Given the description of an element on the screen output the (x, y) to click on. 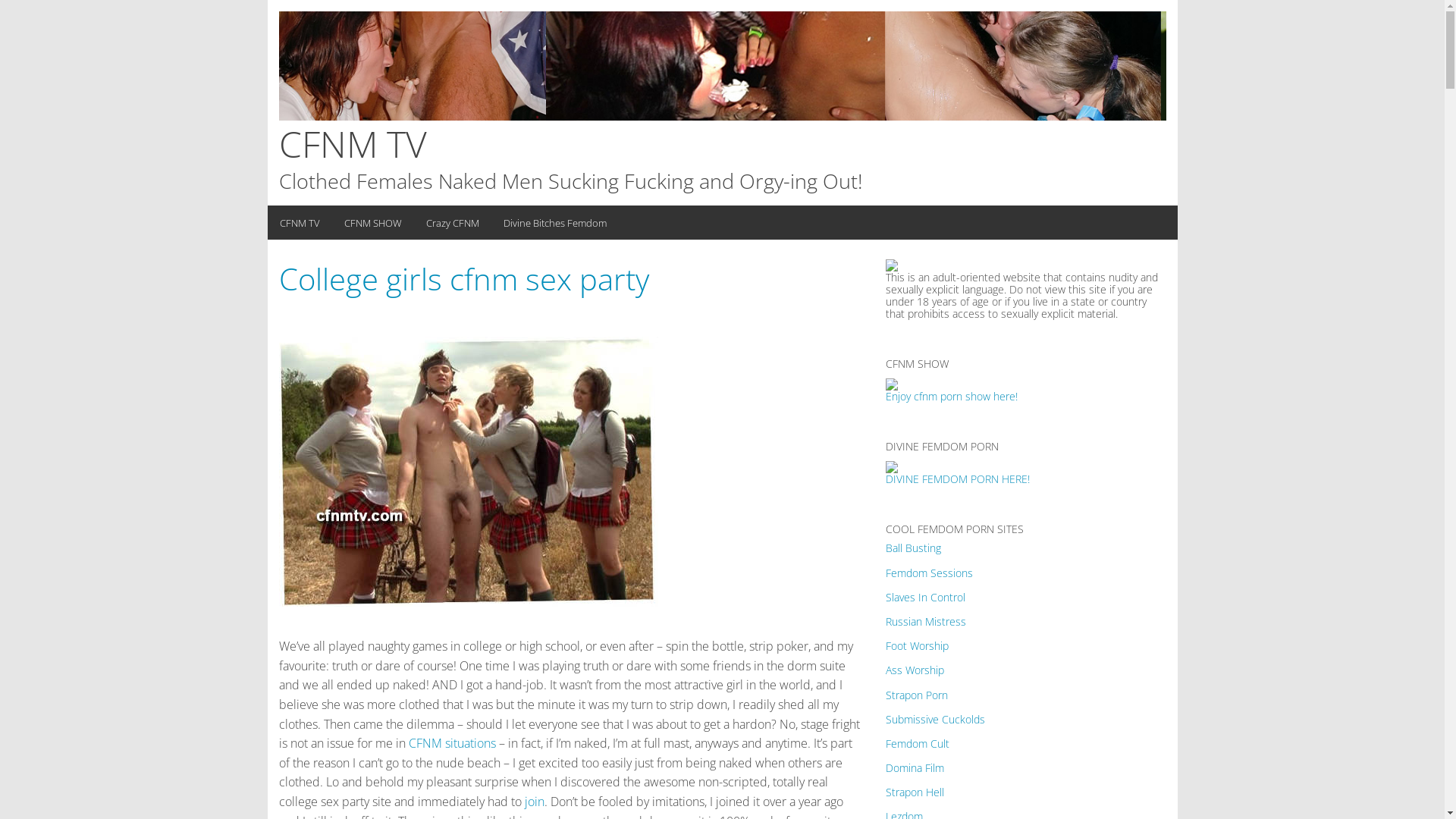
Strapon Hell Element type: text (914, 791)
Femdom Sessions Element type: text (928, 572)
DIVINE FEMDOM PORN HERE! Element type: text (957, 471)
join Element type: text (534, 801)
CFNM SHOW Element type: text (373, 222)
Femdom Cult Element type: text (917, 743)
CFNM TV Element type: text (352, 143)
Skip to content Element type: text (0, 0)
CFNM situations Element type: text (451, 742)
Slaves In Control Element type: text (925, 596)
Foot Worship Element type: text (916, 645)
College girls cfnm sex party Element type: text (464, 278)
CFNM TV Element type: text (298, 222)
Domina Film Element type: text (914, 767)
Divine Bitches Femdom Element type: text (554, 222)
Russian Mistress Element type: text (925, 621)
Crazy CFNM Element type: text (452, 222)
Strapon Porn Element type: text (916, 694)
Ball Busting Element type: text (913, 547)
Enjoy cfnm porn show here! Element type: text (951, 389)
Ass Worship Element type: text (914, 669)
Submissive Cuckolds Element type: text (935, 719)
